Given the description of an element on the screen output the (x, y) to click on. 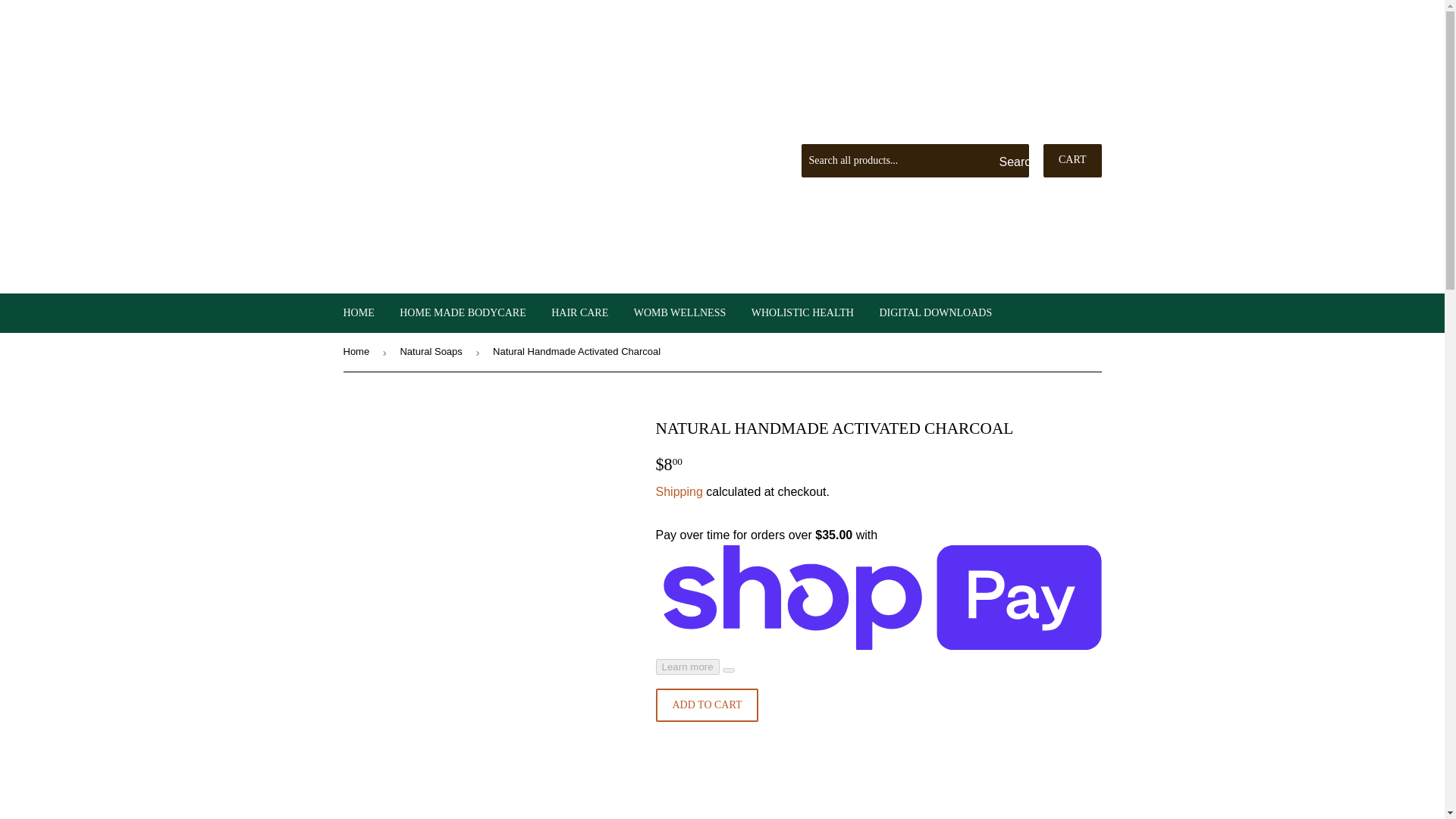
HOME (358, 312)
CART (1072, 160)
HOME MADE BODYCARE (462, 312)
Search (1011, 161)
